Given the description of an element on the screen output the (x, y) to click on. 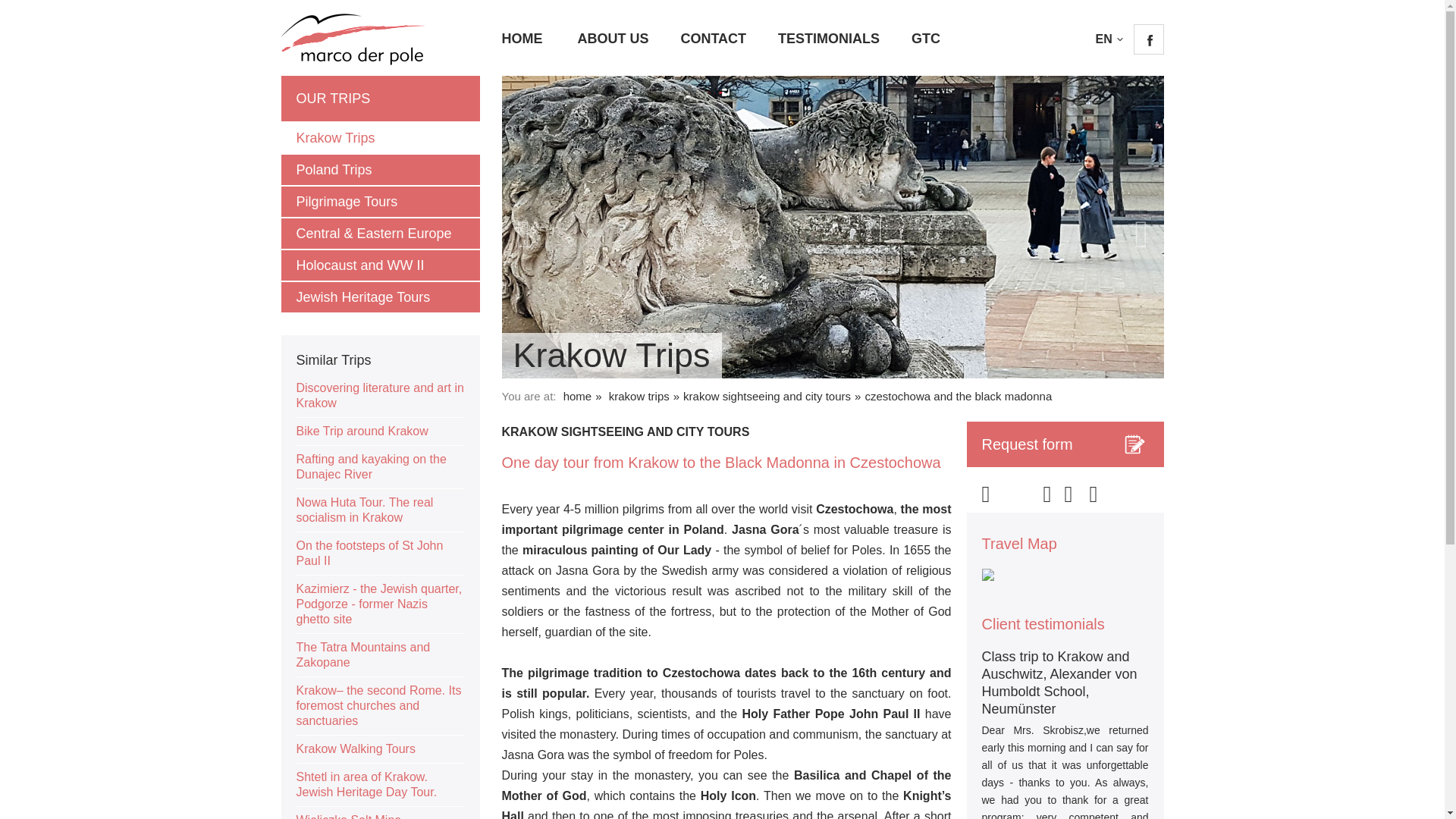
The Tatra Mountains and Zakopane (379, 655)
Poland Trips (380, 169)
Pilgrimage Tours (380, 201)
About us (611, 38)
Krakow Trips (380, 137)
Jewish Heritage Tours (380, 296)
On the footsteps of St John Paul II (379, 553)
Nowa Huta Tour. The real socialism in Krakow (379, 510)
Shtetl in area of Krakow. Jewish Heritage Day Tour. (379, 784)
Wieliczka Salt Mine (379, 812)
Rafting and kayaking on the Dunajec River (379, 466)
GTC (925, 38)
Holocaust and WW II (380, 265)
HOME (522, 38)
